Given the description of an element on the screen output the (x, y) to click on. 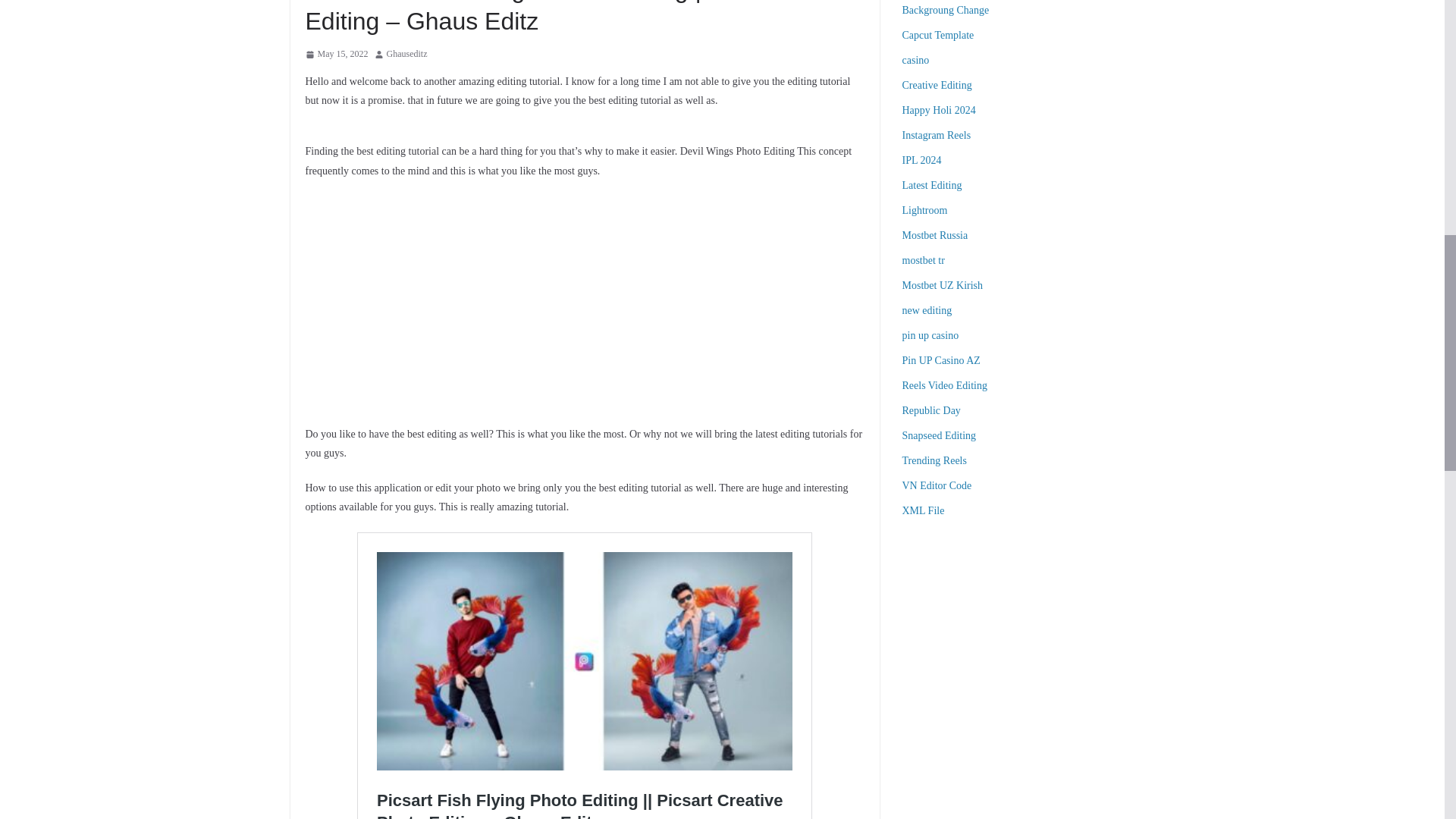
May 15, 2022 (336, 54)
Ghauseditz (407, 54)
5:37 pm (336, 54)
Creative Editing (937, 84)
Capcut Template (938, 34)
casino (916, 60)
Advertisement (1028, 642)
Happy Holi 2024 (938, 110)
Backgroung Change (946, 9)
Advertisement (583, 302)
